Given the description of an element on the screen output the (x, y) to click on. 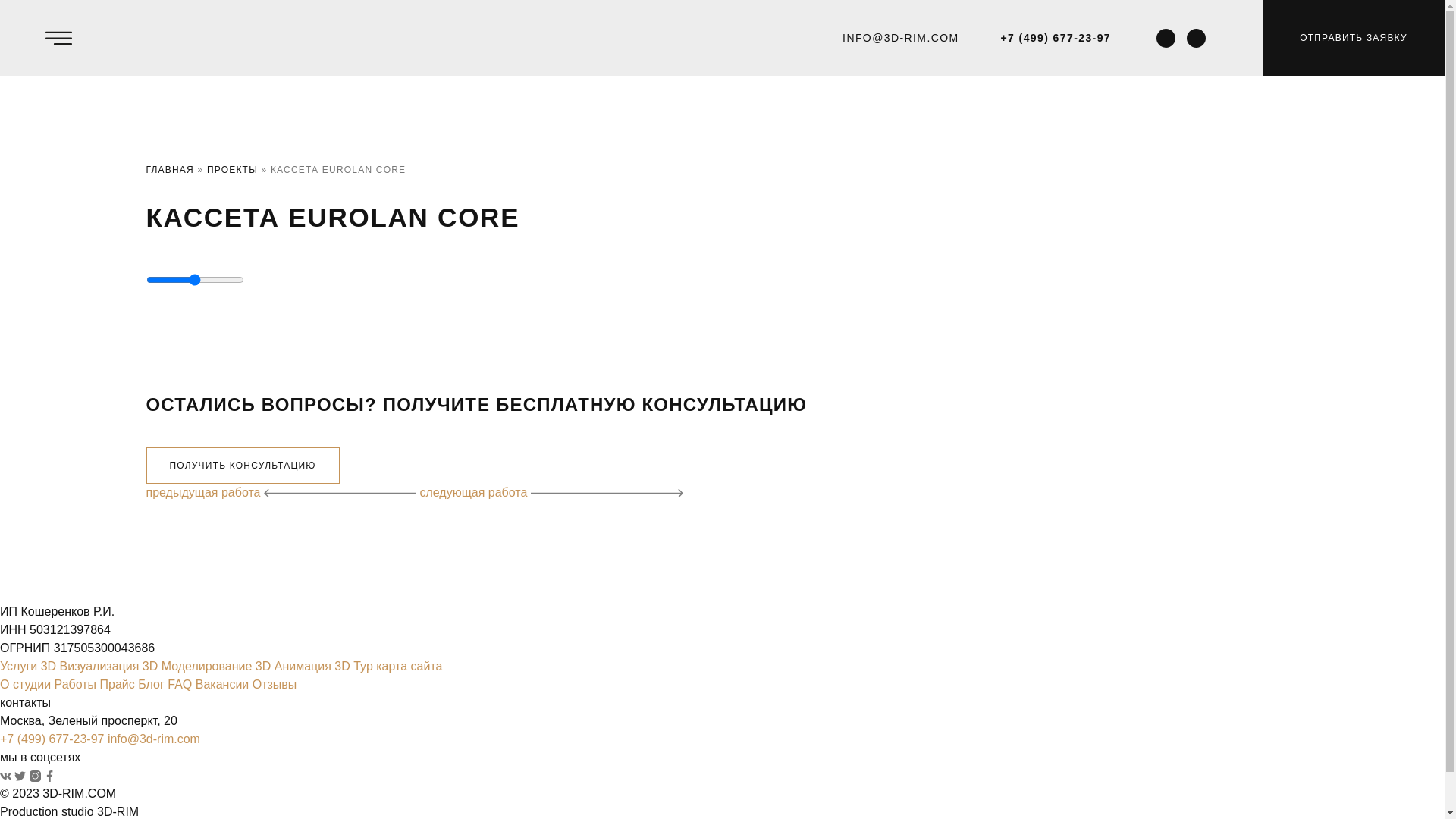
info@3d-rim.com Element type: text (153, 738)
+7 (499) 677-23-97 Element type: text (1055, 37)
+7 (499) 677-23-97 Element type: text (51, 738)
FAQ Element type: text (179, 683)
INFO@3D-RIM.COM Element type: text (900, 37)
